Given the description of an element on the screen output the (x, y) to click on. 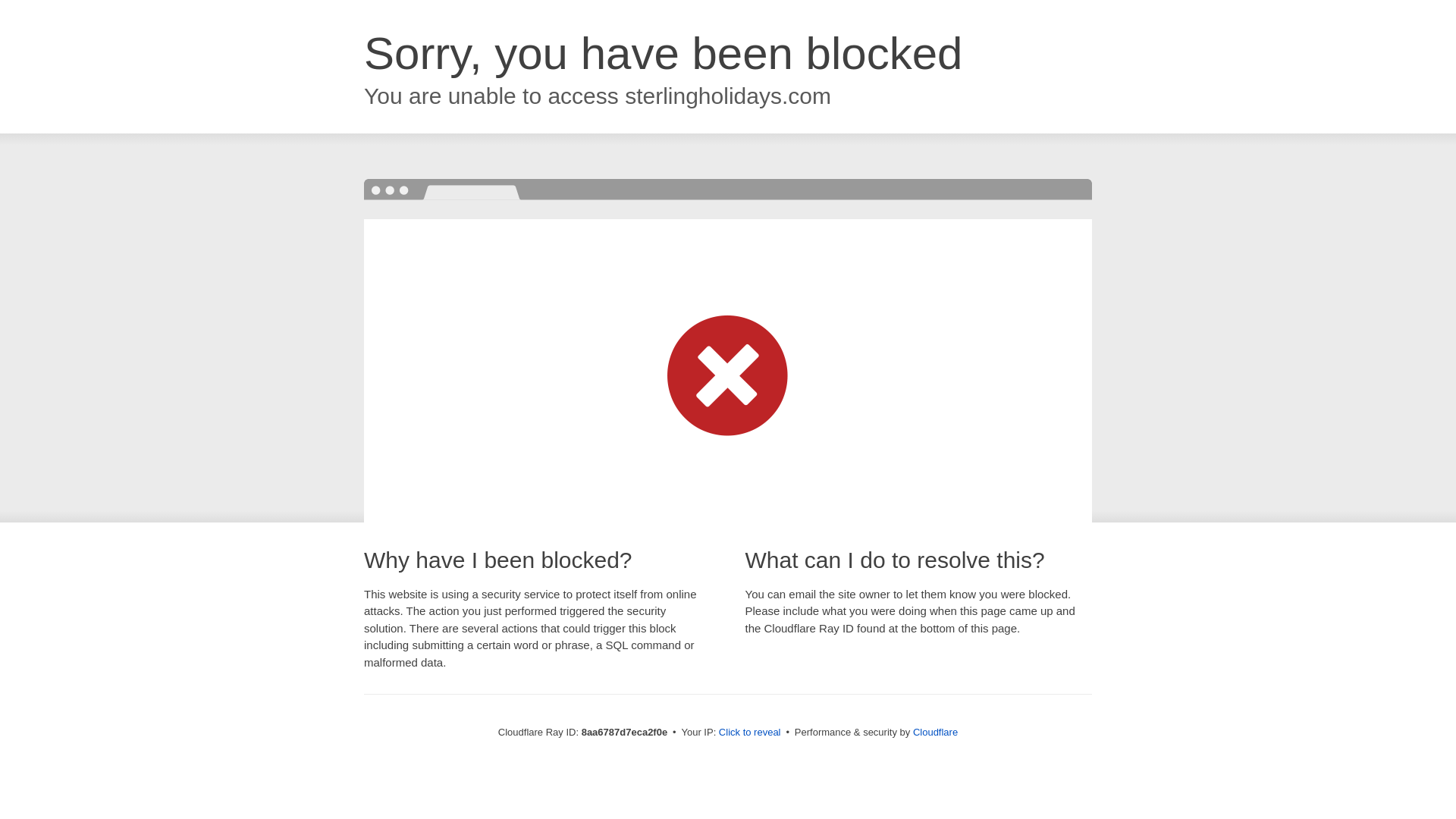
Click to reveal (749, 732)
Cloudflare (935, 731)
